Given the description of an element on the screen output the (x, y) to click on. 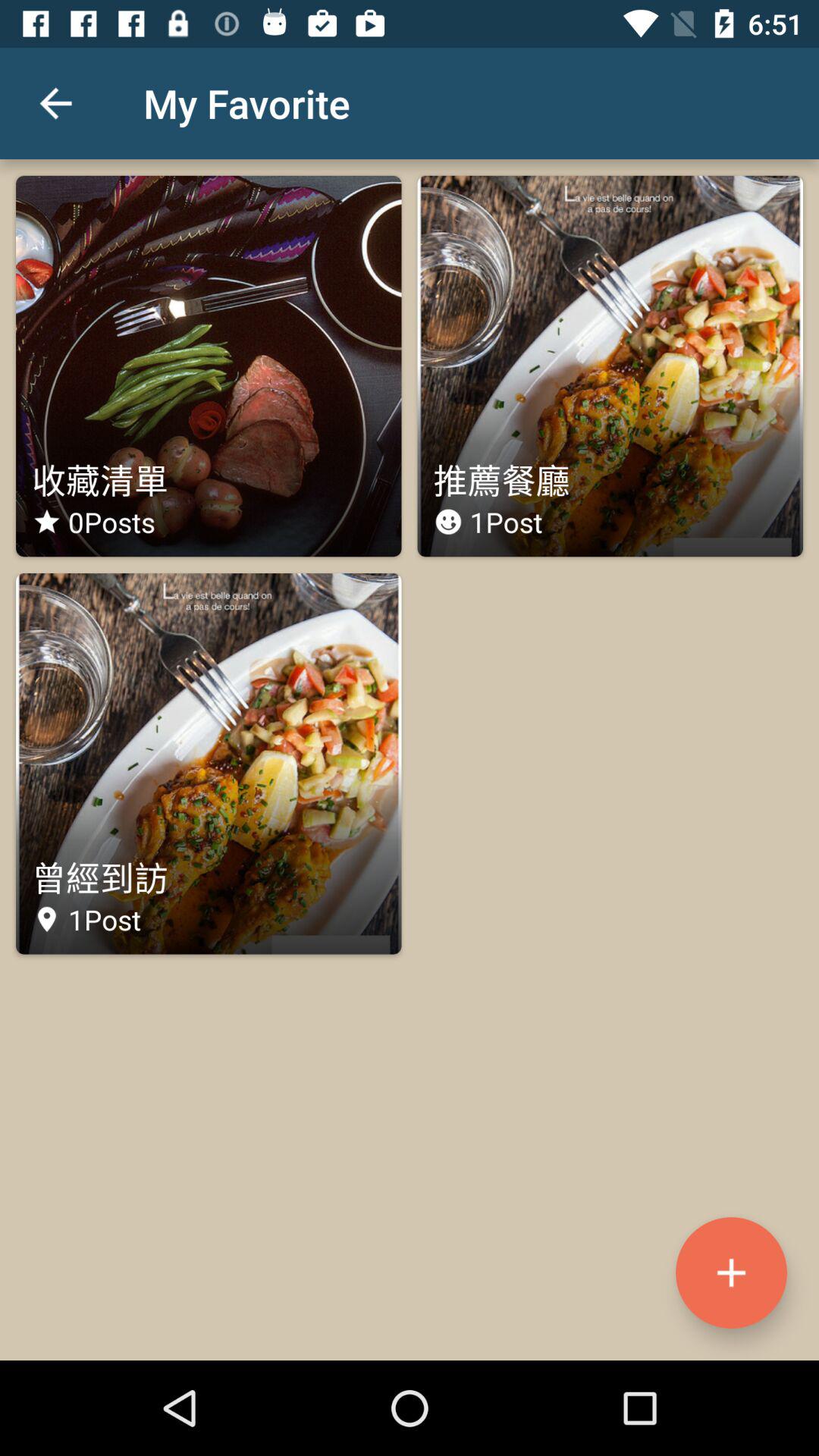
open icon at the bottom right corner (731, 1272)
